Given the description of an element on the screen output the (x, y) to click on. 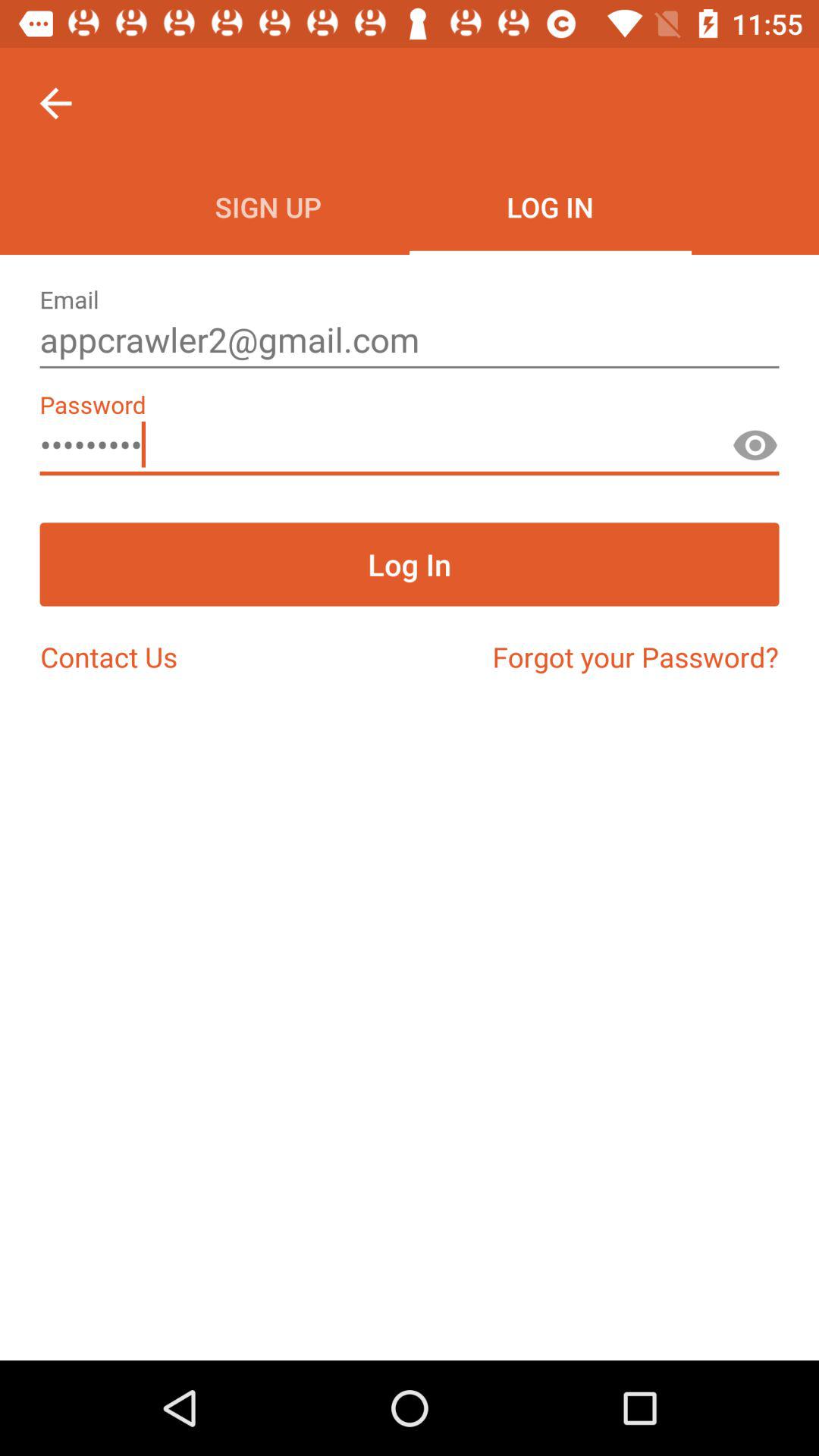
see password button (755, 451)
